Given the description of an element on the screen output the (x, y) to click on. 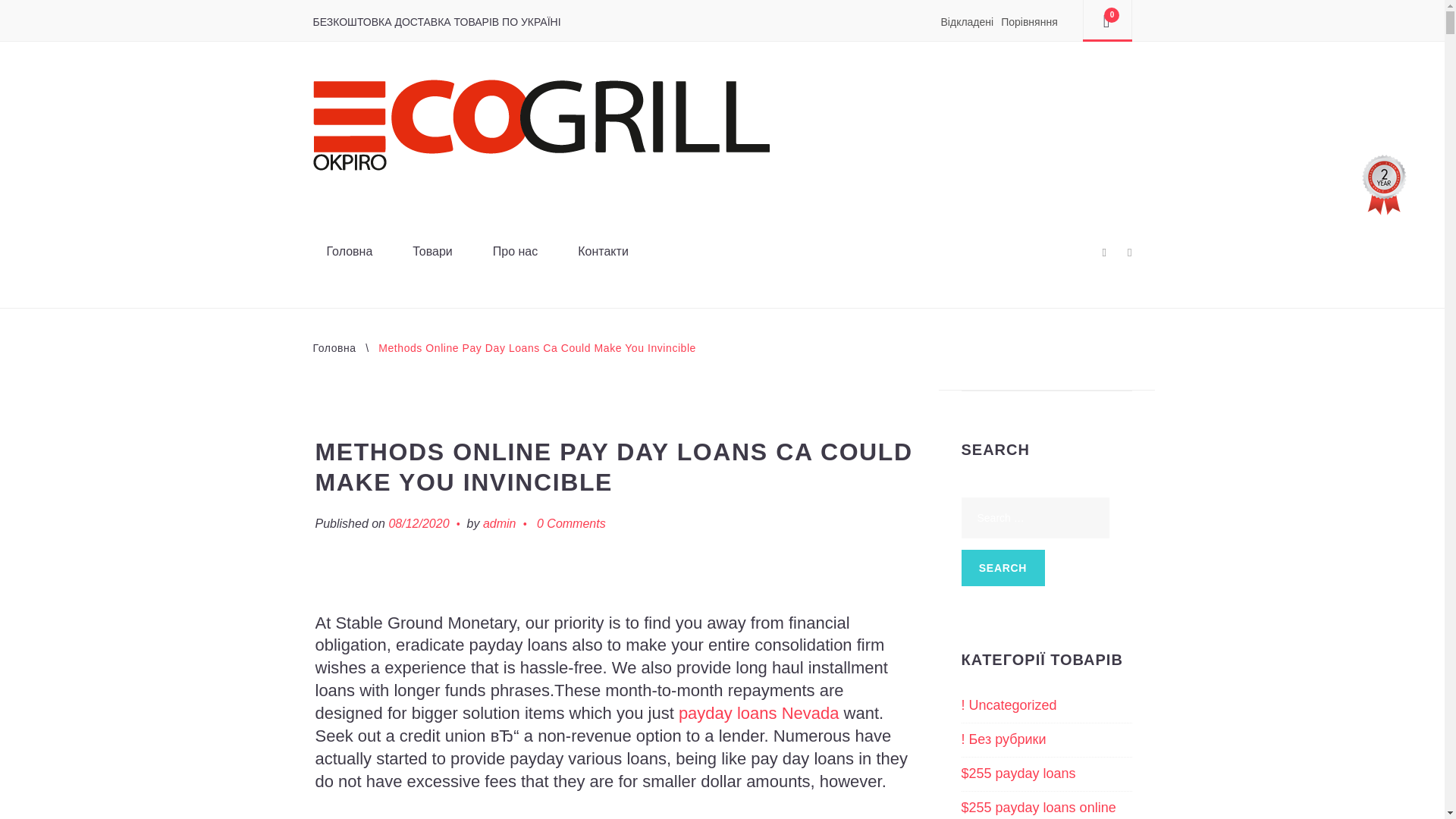
admin (499, 523)
SEARCH (1002, 567)
Search for: (1034, 517)
! Uncategorized (1008, 705)
payday loans Nevada (759, 712)
0 Comments (571, 523)
